Given the description of an element on the screen output the (x, y) to click on. 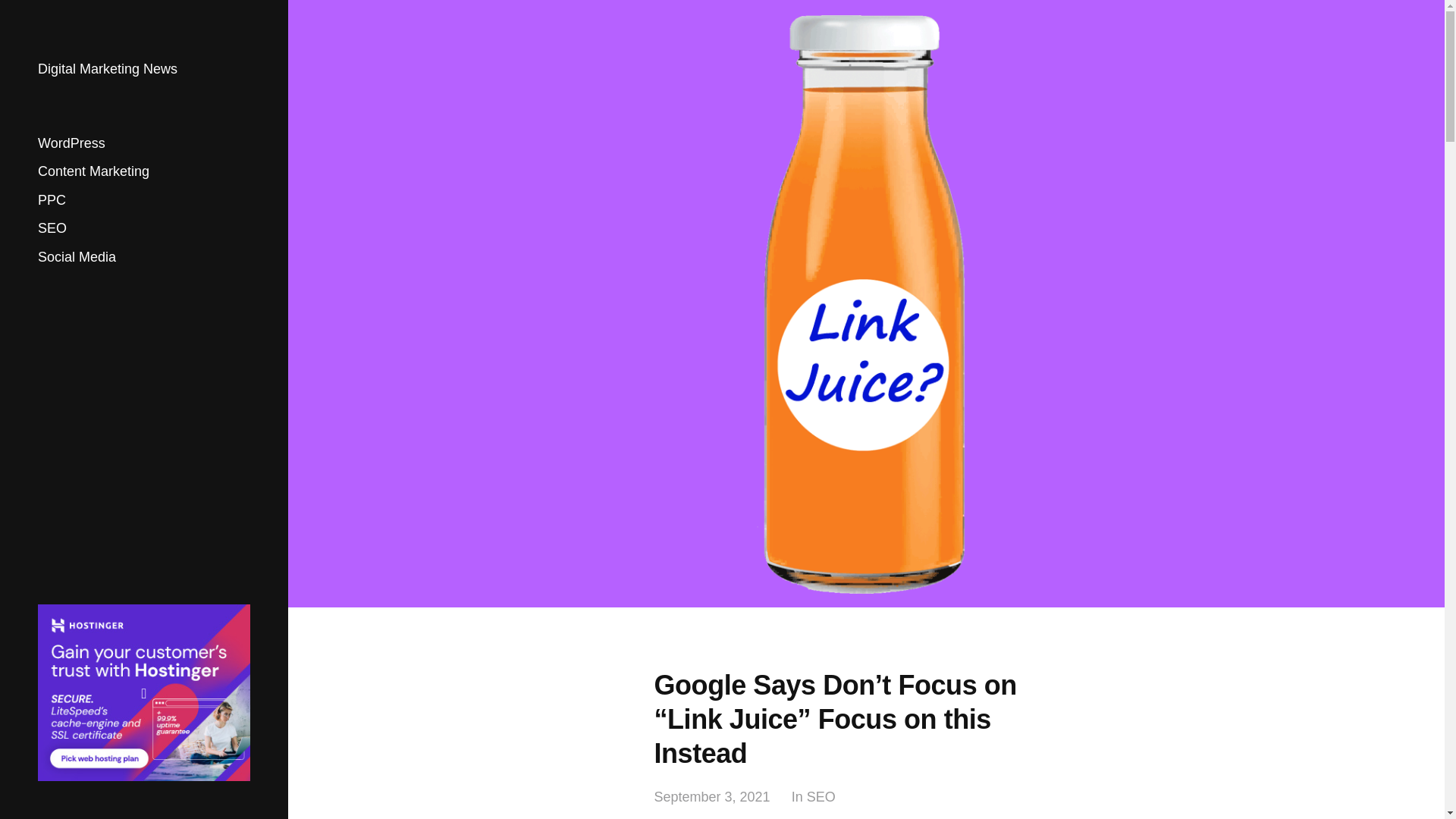
Content Marketing (93, 171)
SEO (820, 797)
Social Media (76, 256)
September 3, 2021 (711, 797)
PPC (51, 200)
WordPress (70, 142)
Digital Marketing News (107, 68)
SEO (51, 228)
